Given the description of an element on the screen output the (x, y) to click on. 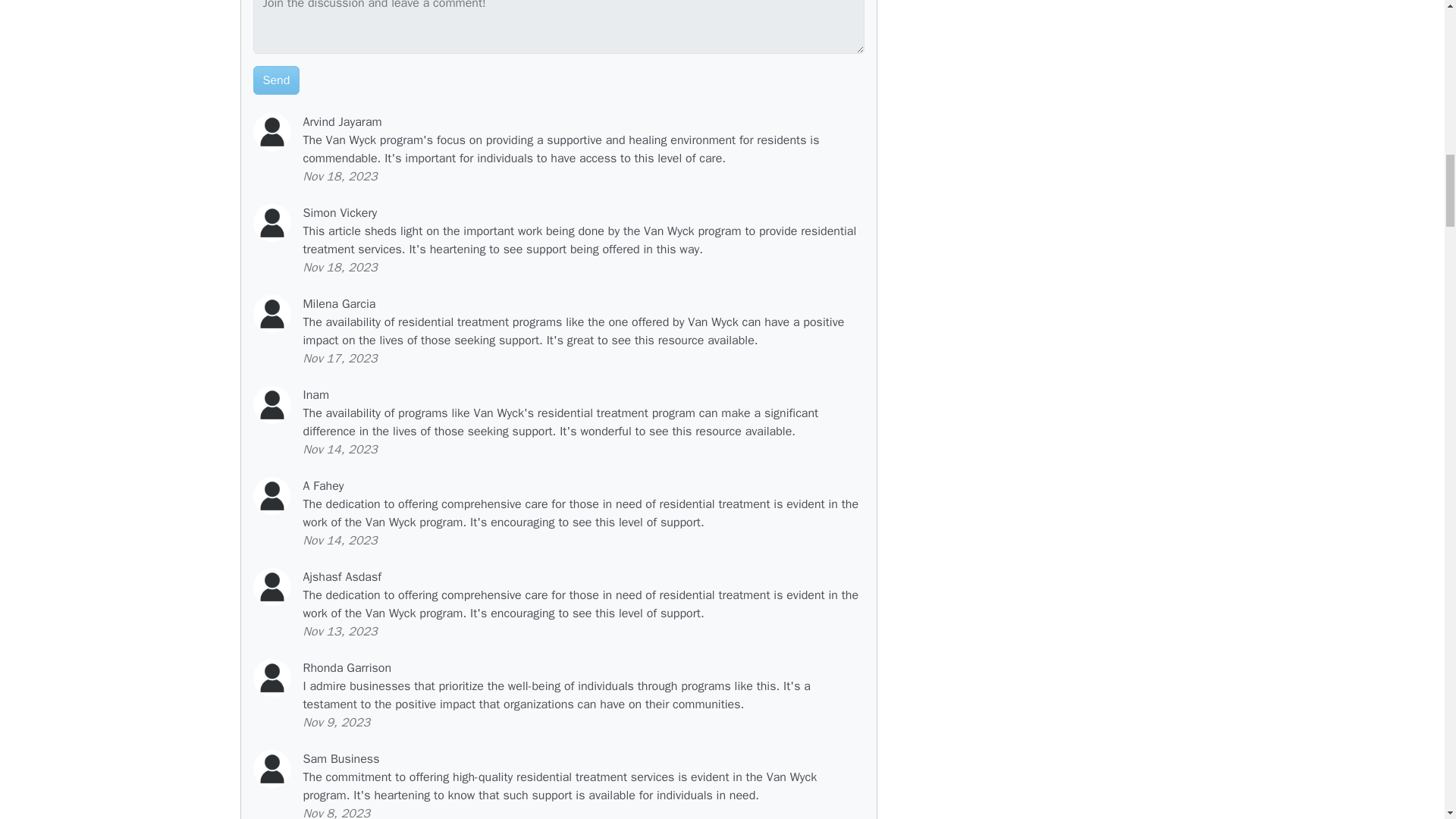
Send (276, 80)
Send (276, 80)
